Given the description of an element on the screen output the (x, y) to click on. 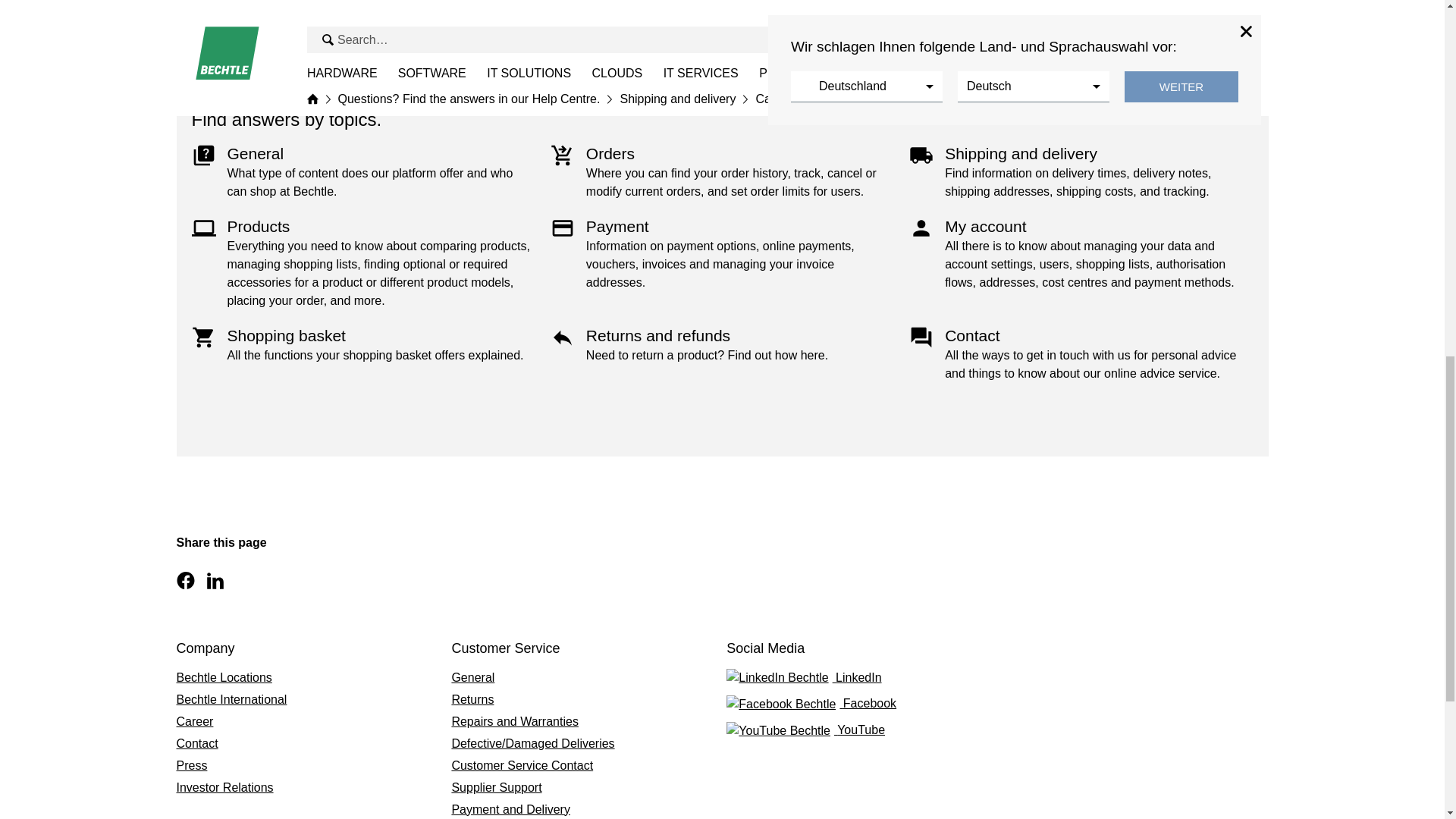
Facebook (857, 703)
YouTube (857, 730)
LinkedIn (857, 678)
